Given the description of an element on the screen output the (x, y) to click on. 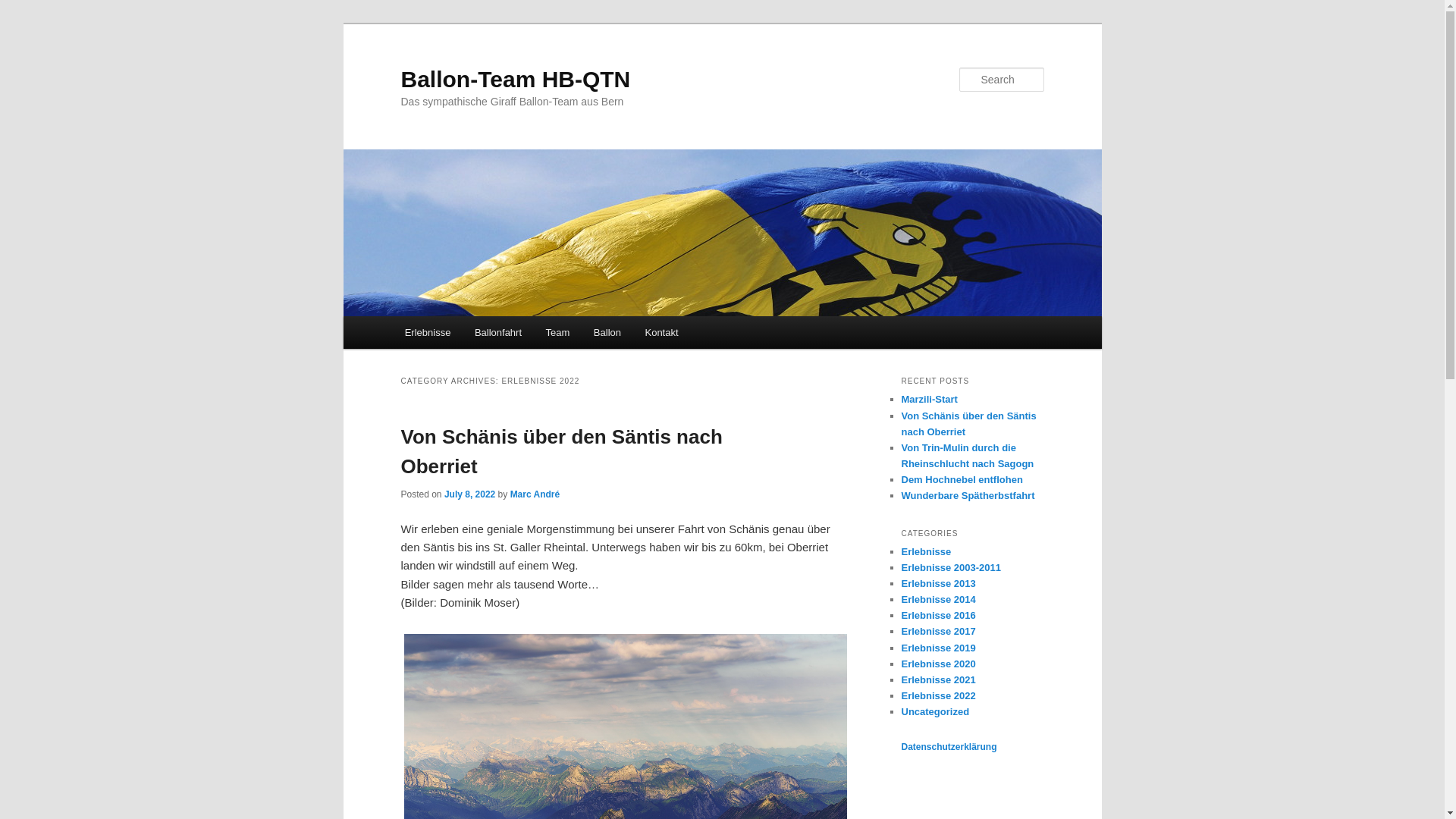
Kontakt Element type: text (661, 332)
Erlebnisse 2020 Element type: text (937, 663)
Erlebnisse Element type: text (427, 332)
Dem Hochnebel entflohen Element type: text (961, 479)
Erlebnisse 2013 Element type: text (937, 583)
Marzili-Start Element type: text (928, 398)
Ballon Element type: text (607, 332)
Erlebnisse 2014 Element type: text (937, 599)
Erlebnisse 2021 Element type: text (937, 679)
Erlebnisse 2017 Element type: text (937, 631)
Erlebnisse 2022 Element type: text (937, 695)
July 8, 2022 Element type: text (469, 494)
Ballon-Team HB-QTN Element type: text (515, 78)
Von Trin-Mulin durch die Rheinschlucht nach Sagogn Element type: text (966, 455)
Ballonfahrt Element type: text (497, 332)
Erlebnisse 2016 Element type: text (937, 615)
Uncategorized Element type: text (934, 711)
Team Element type: text (557, 332)
Skip to primary content Element type: text (22, 22)
Erlebnisse 2019 Element type: text (937, 646)
Erlebnisse 2003-2011 Element type: text (950, 567)
Erlebnisse Element type: text (925, 551)
Search Element type: text (24, 8)
